Given the description of an element on the screen output the (x, y) to click on. 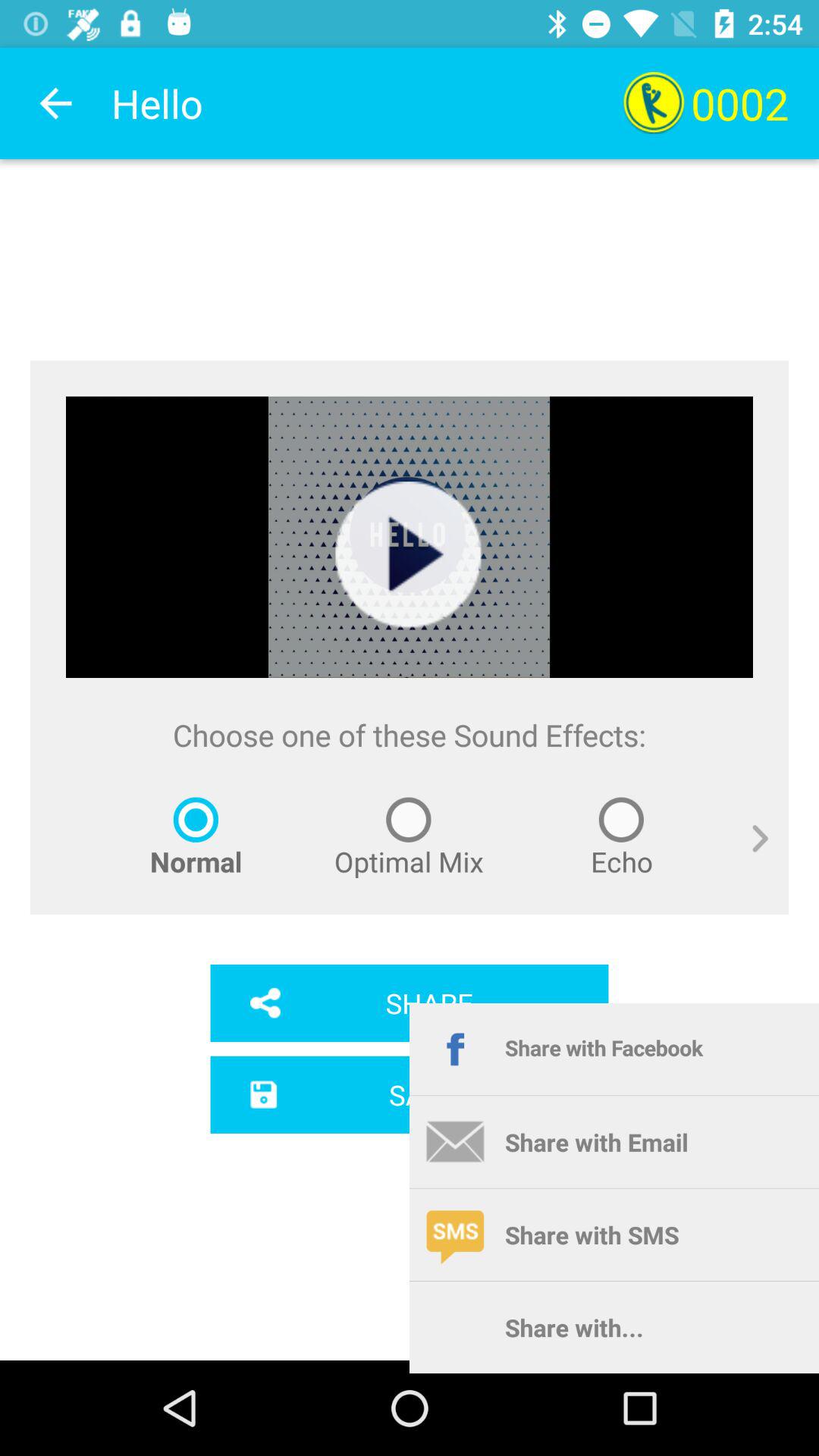
open app next to the hello app (55, 103)
